Given the description of an element on the screen output the (x, y) to click on. 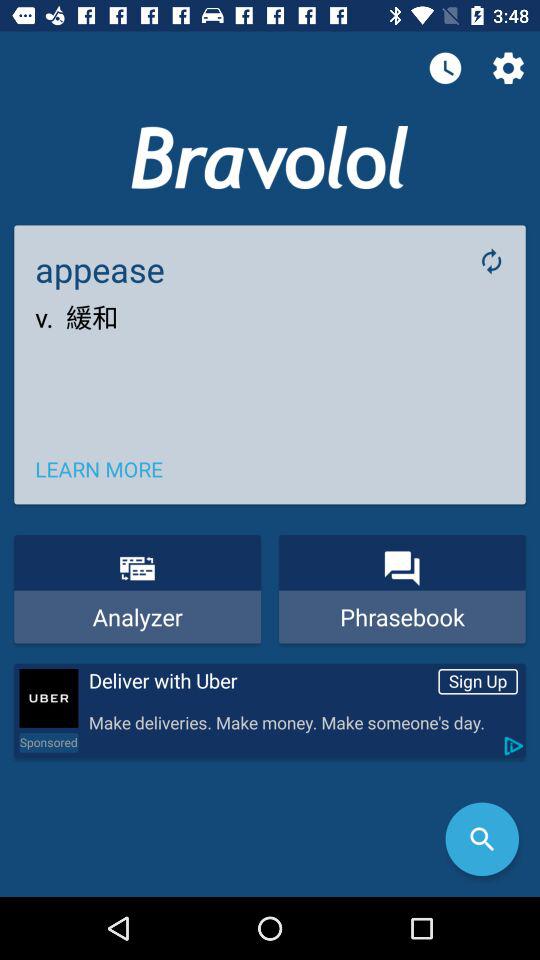
press the icon to the left of sign up icon (259, 681)
